Given the description of an element on the screen output the (x, y) to click on. 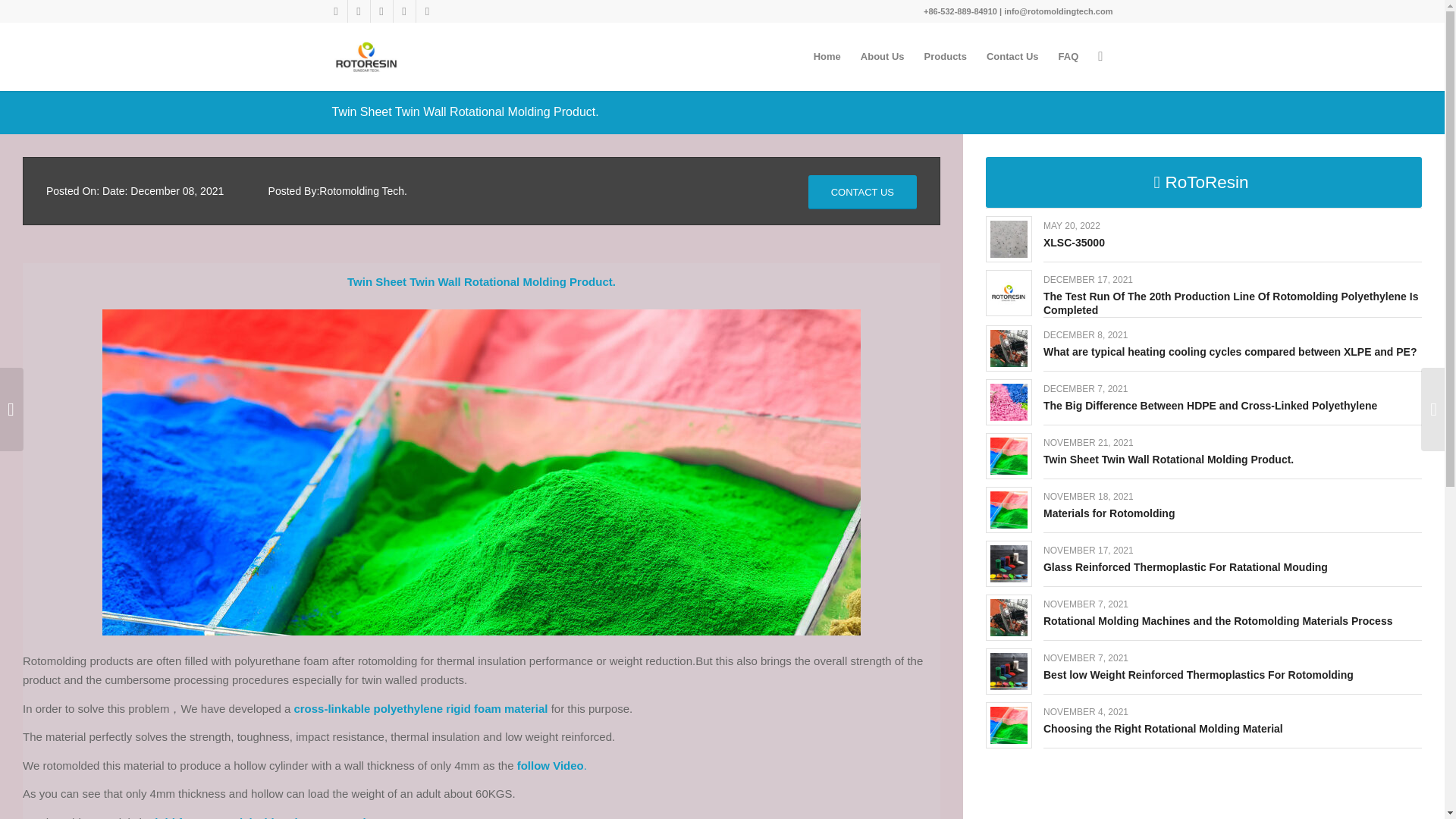
Twitter (358, 11)
Instagram (426, 11)
FAQ (1068, 56)
cross-linkable polyethylene rigid foam material (420, 707)
Pinterest (403, 11)
CONTACT US (862, 192)
Twin Sheet Twin Wall Rotational Molding Product. (464, 111)
Contact Us (1012, 56)
Home (826, 56)
Facebook (335, 11)
About Us (882, 56)
Link to: XLSC-35000 (1074, 242)
